Given the description of an element on the screen output the (x, y) to click on. 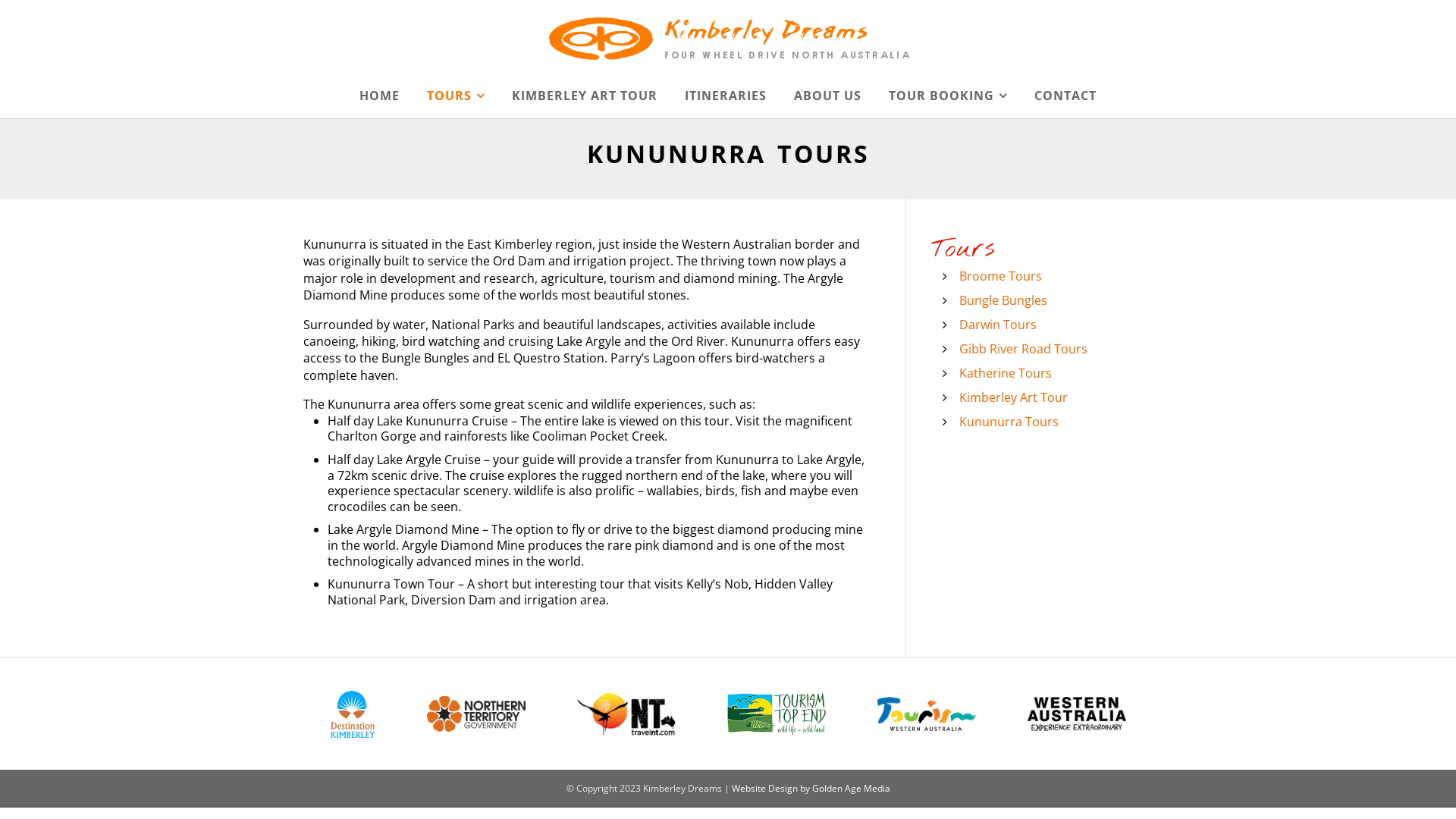
Tourism Top End Element type: hover (776, 713)
Western Australia Element type: hover (1076, 713)
Destination Kimberley Element type: hover (352, 712)
KIMBERLEY ART TOUR Element type: text (584, 95)
Northern Territory Government Element type: hover (475, 712)
Tourism WA Element type: hover (926, 713)
HOME Element type: text (385, 95)
Tourism WA Element type: hover (926, 712)
Northern Territory Government Element type: hover (475, 713)
Destination Kimberley Element type: hover (352, 714)
CONTACT Element type: text (1059, 95)
Tourism NT Element type: hover (626, 713)
Tourism NT Element type: hover (626, 712)
Website Design by Golden Age Media Element type: text (810, 787)
Broome Tours Element type: text (1000, 275)
ITINERARIES Element type: text (725, 95)
Darwin Tours Element type: text (997, 324)
TOURS Element type: text (455, 95)
Bungle Bungles Element type: text (1003, 299)
Western Australia Element type: hover (1076, 712)
ABOUT US Element type: text (827, 95)
Gibb River Road Tours Element type: text (1023, 348)
Kimberley Art Tour Element type: text (1013, 397)
Tourism Top End Element type: hover (776, 712)
Kununurra Tours Element type: text (1008, 421)
TOUR BOOKING Element type: text (947, 95)
Katherine Tours Element type: text (1005, 372)
